Given the description of an element on the screen output the (x, y) to click on. 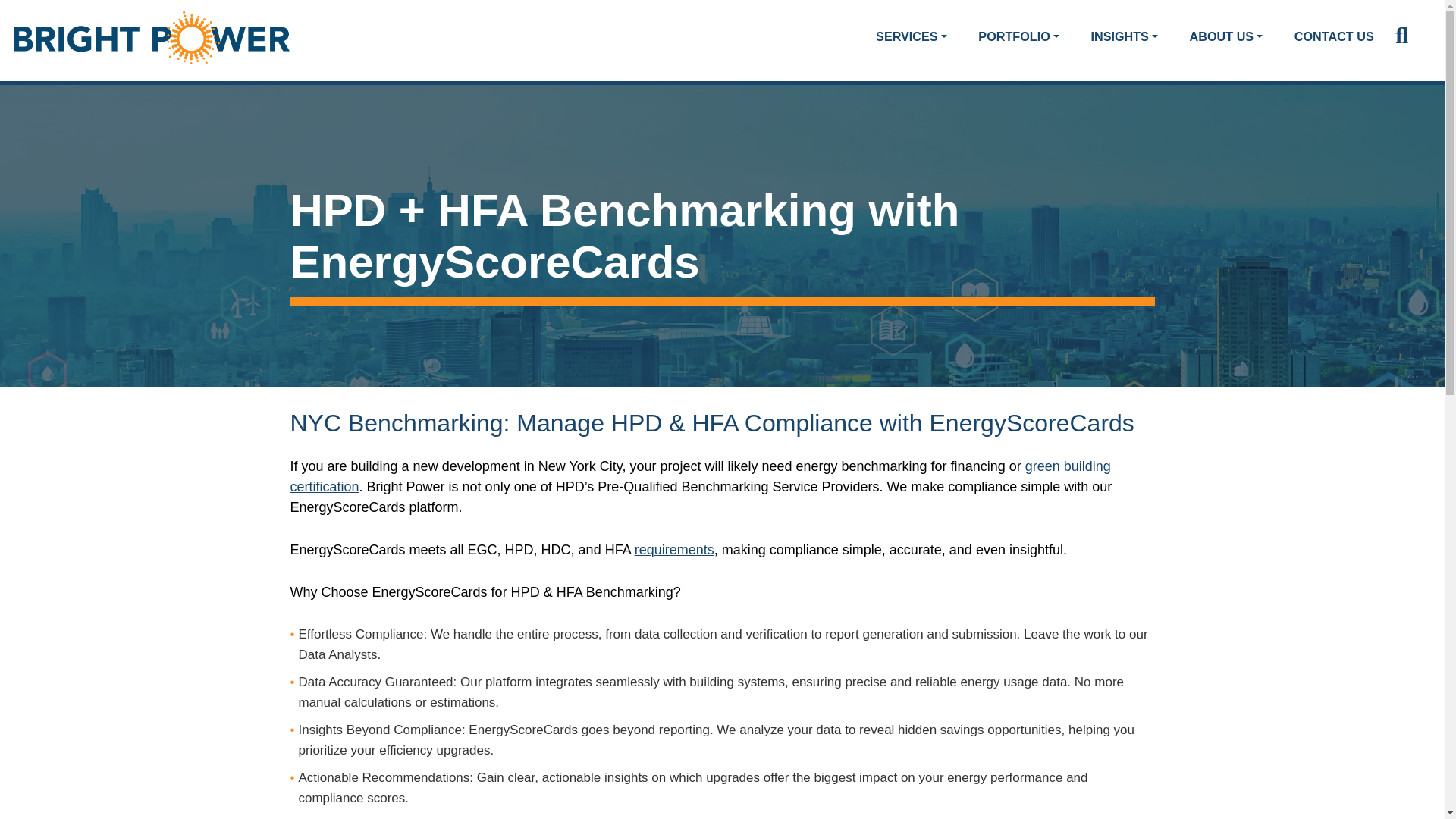
PORTFOLIO (1018, 36)
SERVICES (910, 36)
INSIGHTS (1124, 36)
Services (910, 36)
